Given the description of an element on the screen output the (x, y) to click on. 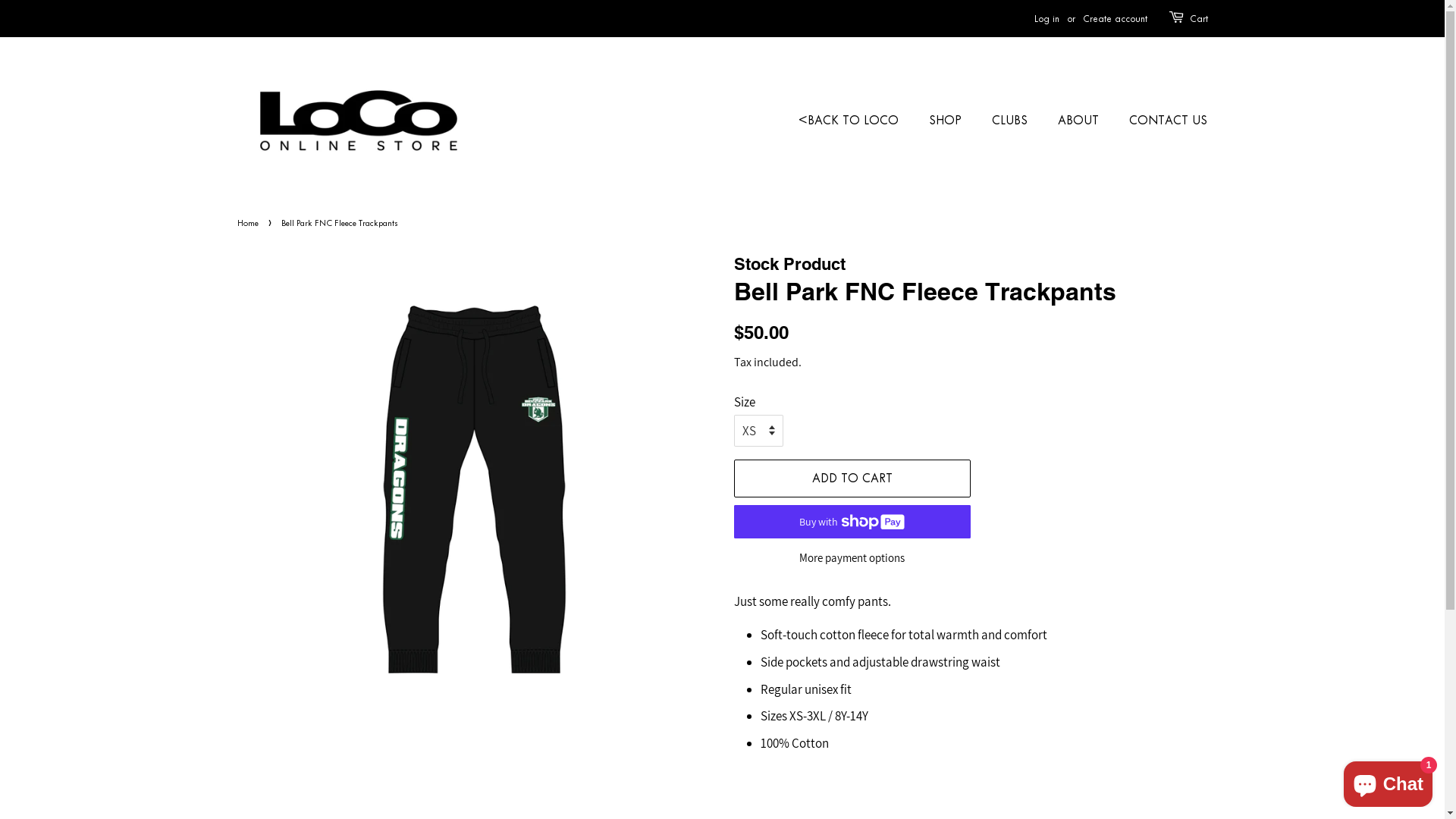
CLUBS Element type: text (1011, 120)
Shopify online store chat Element type: hover (1388, 780)
SHOP Element type: text (946, 120)
ADD TO CART Element type: text (852, 478)
Log in Element type: text (1046, 18)
Cart Element type: text (1198, 18)
More payment options Element type: text (852, 556)
Home Element type: text (248, 222)
<BACK TO LOCO Element type: text (855, 120)
ABOUT Element type: text (1079, 120)
CONTACT US Element type: text (1162, 120)
Create account Element type: text (1114, 18)
